Given the description of an element on the screen output the (x, y) to click on. 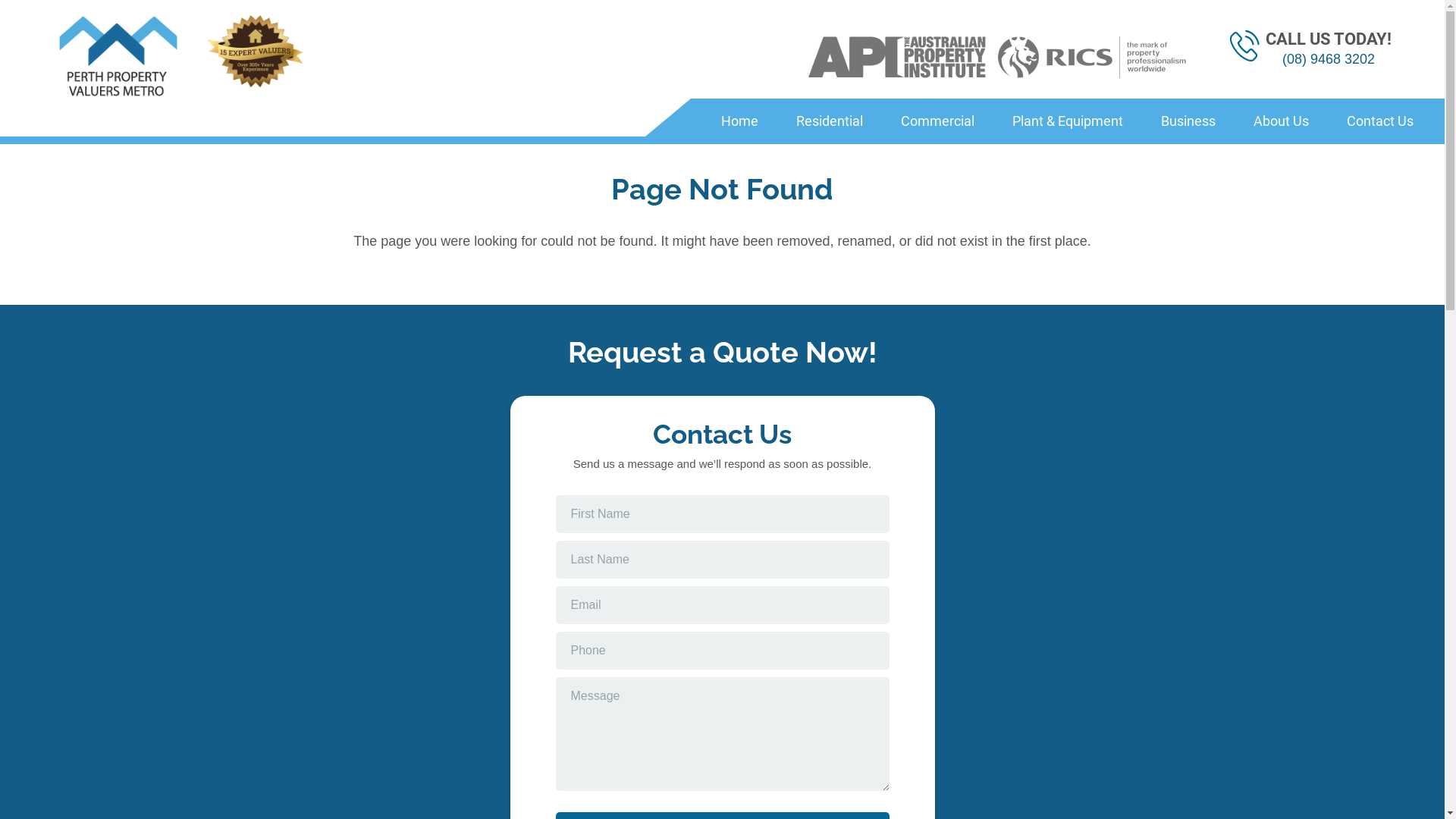
Business Element type: text (1188, 121)
Contact Us Element type: text (1379, 121)
Plant & Equipment Element type: text (1067, 121)
Commercial Element type: text (937, 121)
About Us Element type: text (1280, 121)
Home Element type: text (739, 121)
Residential Element type: text (829, 121)
